Given the description of an element on the screen output the (x, y) to click on. 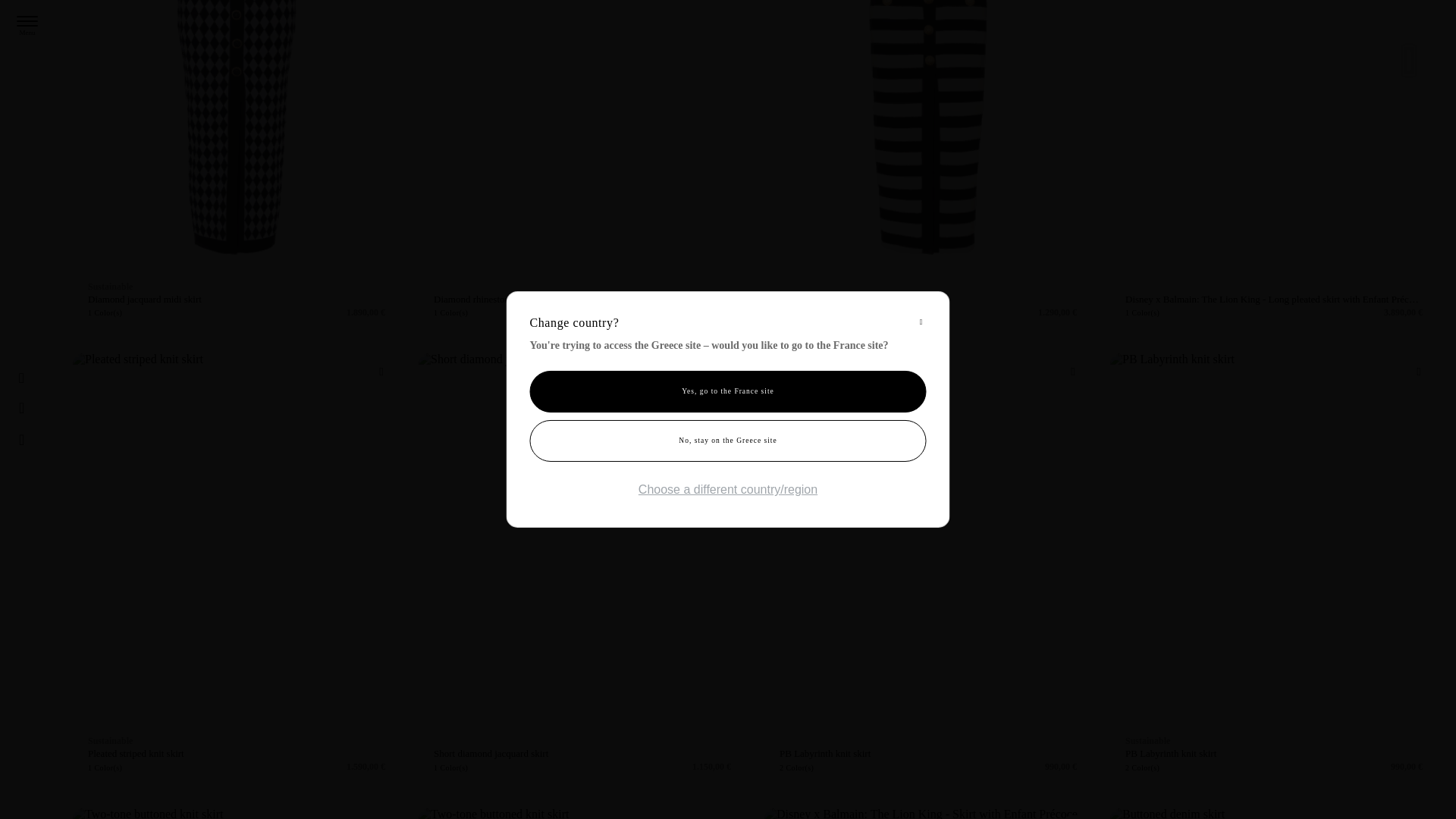
Two-tone buttoned knit midi skirt, black (928, 167)
Diamond jacquard midi skirt, black (236, 167)
Diamond rhinestone midi skirt, black (582, 167)
